Given the description of an element on the screen output the (x, y) to click on. 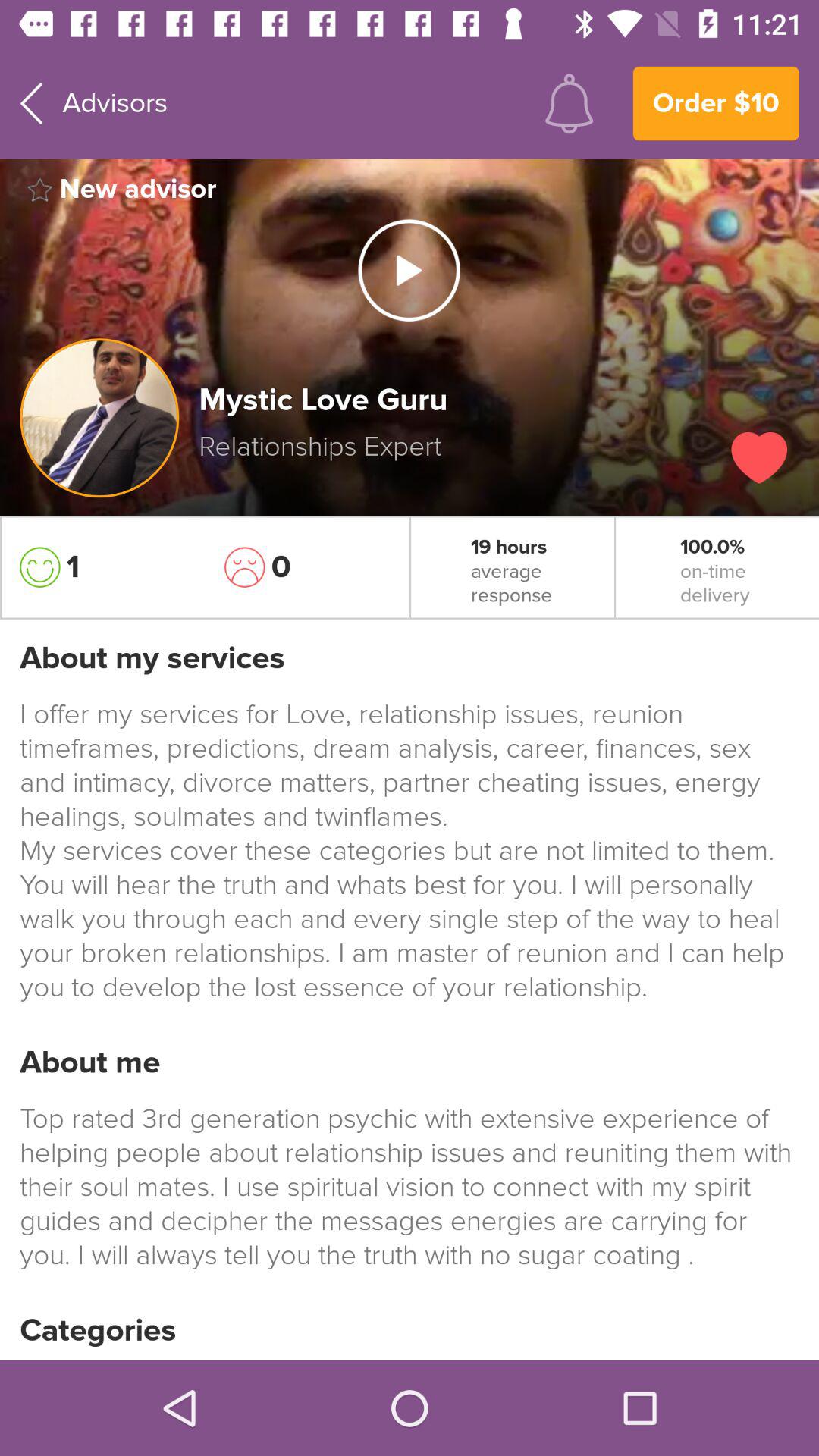
click icon next to new advisor item (409, 270)
